Given the description of an element on the screen output the (x, y) to click on. 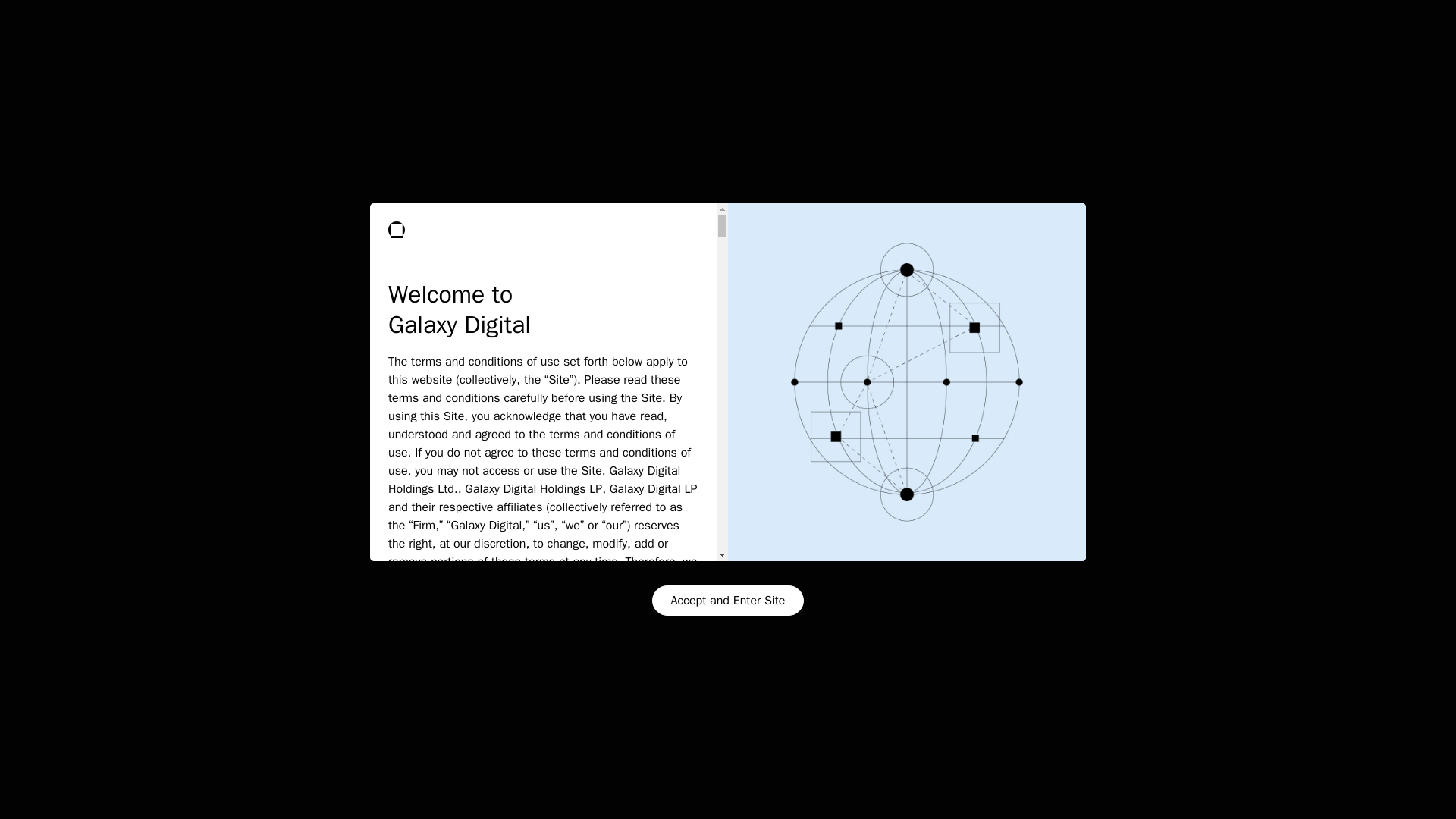
Show Details (186, 789)
0 (663, 247)
1 (1137, 247)
Cookies Policy (278, 747)
